Given the description of an element on the screen output the (x, y) to click on. 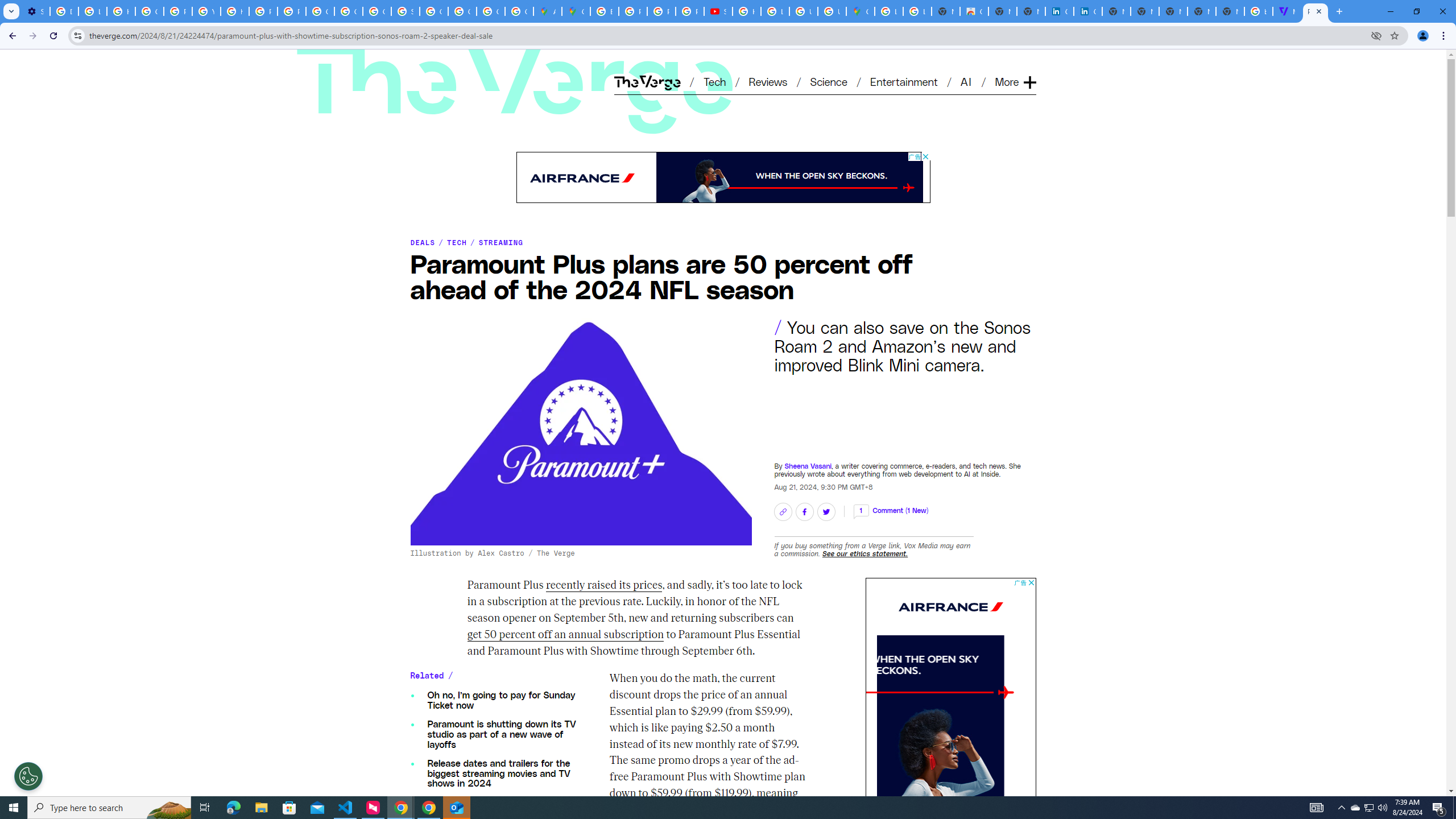
STREAMING (501, 242)
Expand (1029, 64)
Share on Facebook (803, 511)
Sign in - Google Accounts (405, 11)
AI (966, 81)
